Given the description of an element on the screen output the (x, y) to click on. 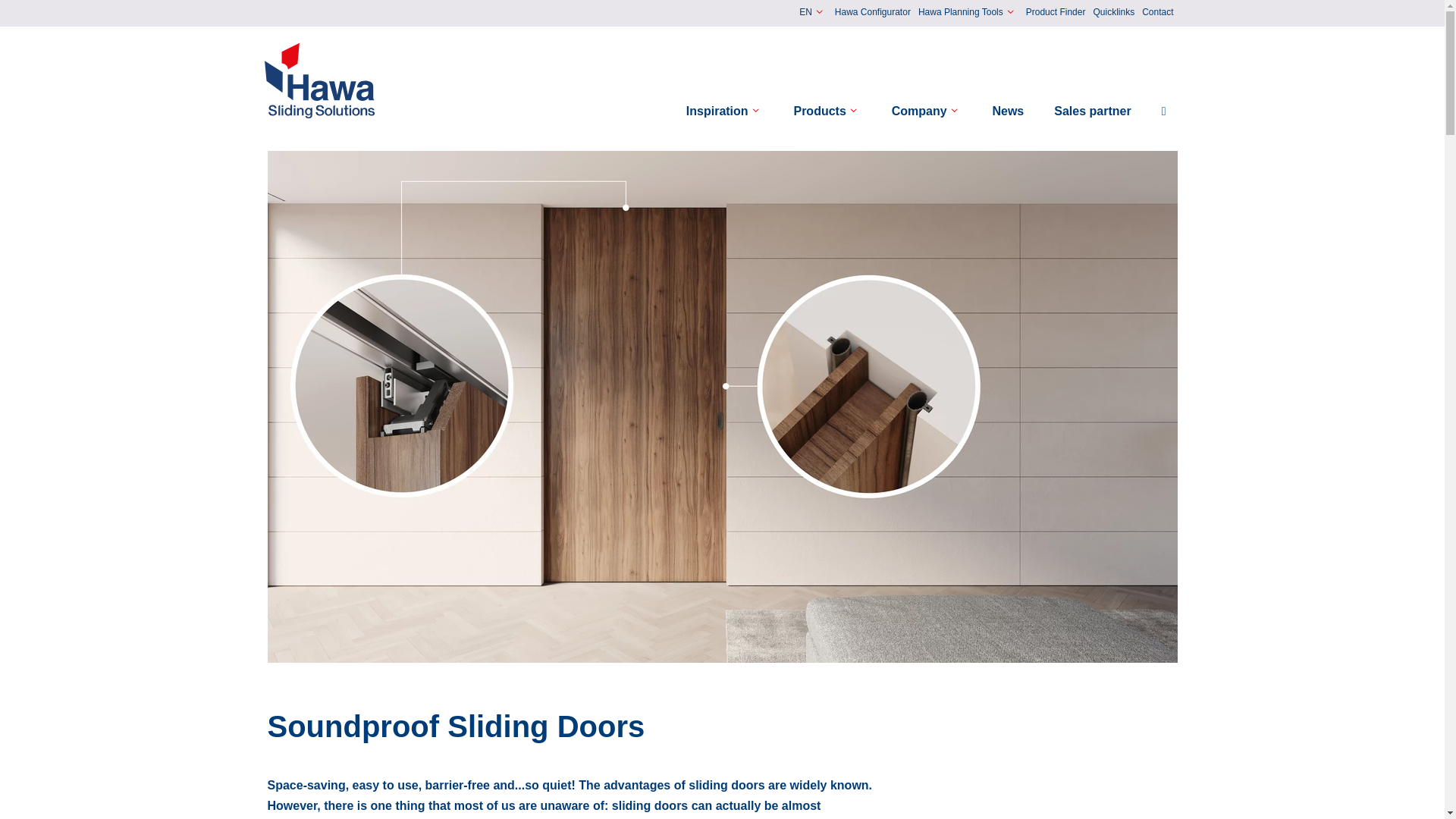
Hawa Planning Tools (967, 12)
Hawa (320, 80)
Hawa Configurator (872, 12)
Contact (1157, 12)
Company (926, 111)
Products (826, 111)
Product Finder (1056, 12)
Inspiration (724, 111)
Quicklinks (1113, 12)
EN (813, 12)
